Given the description of an element on the screen output the (x, y) to click on. 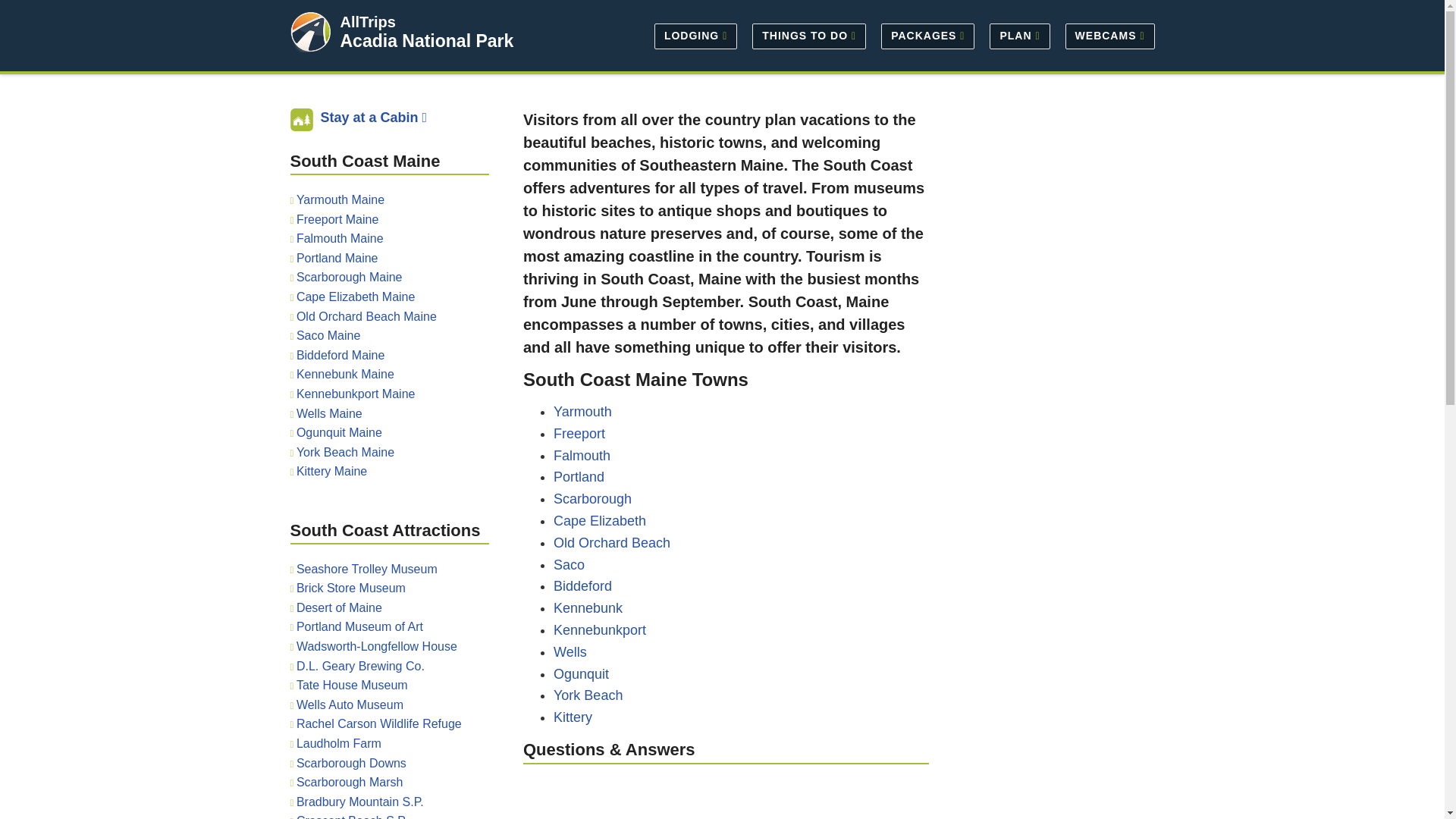
WEBCAMS (1106, 35)
AllTrips (366, 21)
LODGING (695, 35)
PLAN (1019, 35)
Acadia National Park (426, 40)
THINGS TO DO (808, 35)
PACKAGES (927, 35)
